Given the description of an element on the screen output the (x, y) to click on. 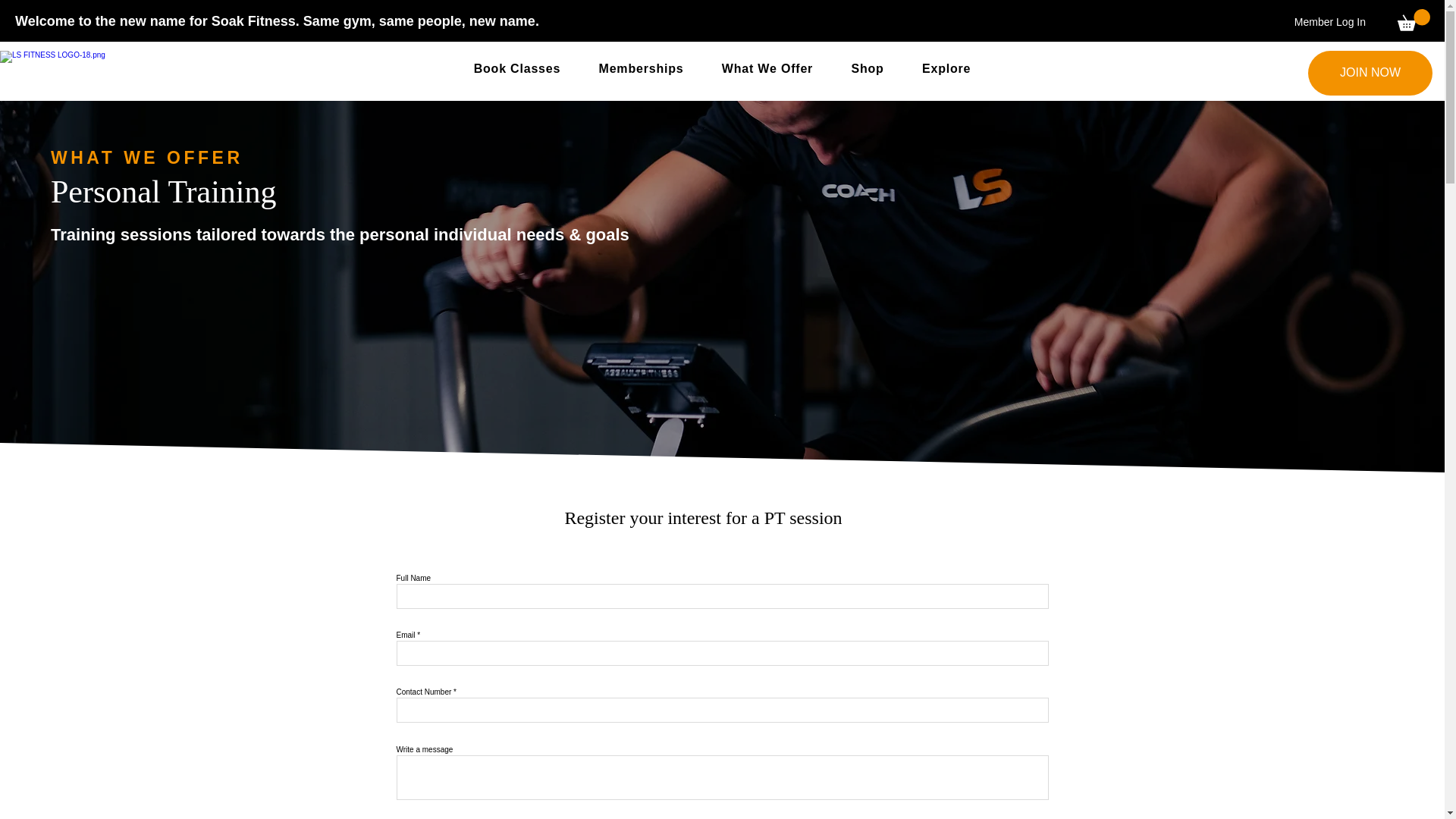
Shop (866, 68)
Book Classes (517, 68)
JOIN NOW (1369, 72)
Memberships (640, 68)
Member Log In (1329, 22)
